Given the description of an element on the screen output the (x, y) to click on. 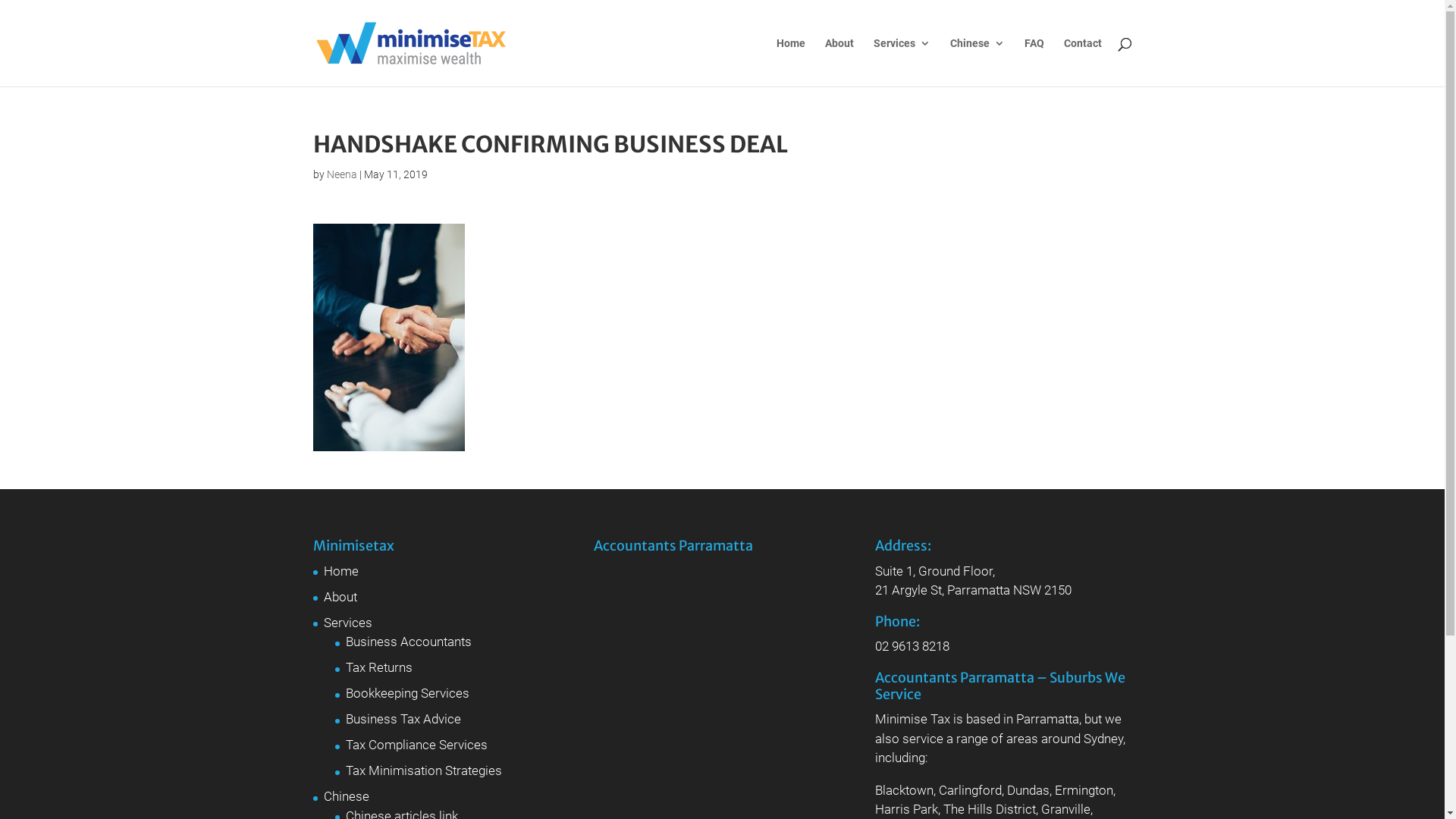
Home Element type: text (790, 61)
Tax Minimisation Strategies Element type: text (423, 770)
Bookkeeping Services Element type: text (407, 692)
Tax Compliance Services Element type: text (416, 744)
Neena Element type: text (341, 174)
Chinese Element type: text (976, 61)
Services Element type: text (901, 61)
Chinese Element type: text (345, 795)
About Element type: text (839, 61)
Business Tax Advice Element type: text (403, 718)
Tax Returns Element type: text (378, 666)
FAQ Element type: text (1033, 61)
Contact Element type: text (1082, 61)
About Element type: text (339, 596)
02 9613 8218 Element type: text (912, 645)
Home Element type: text (340, 570)
Business Accountants Element type: text (408, 641)
Services Element type: text (347, 622)
